Given the description of an element on the screen output the (x, y) to click on. 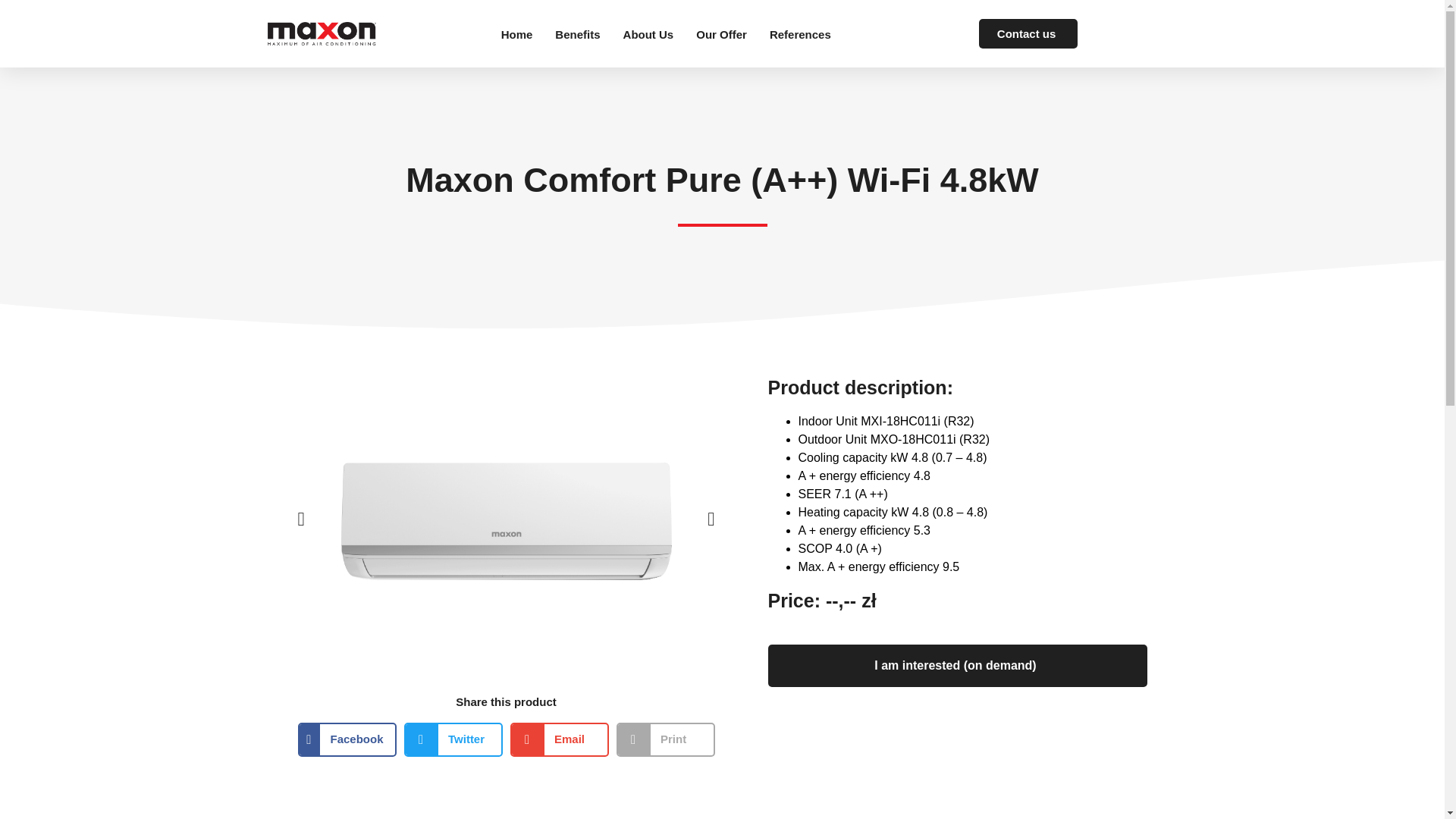
Our Offer (720, 33)
Benefits (576, 33)
References (800, 33)
Contact us (1028, 33)
Home (516, 33)
About Us (648, 33)
